Given the description of an element on the screen output the (x, y) to click on. 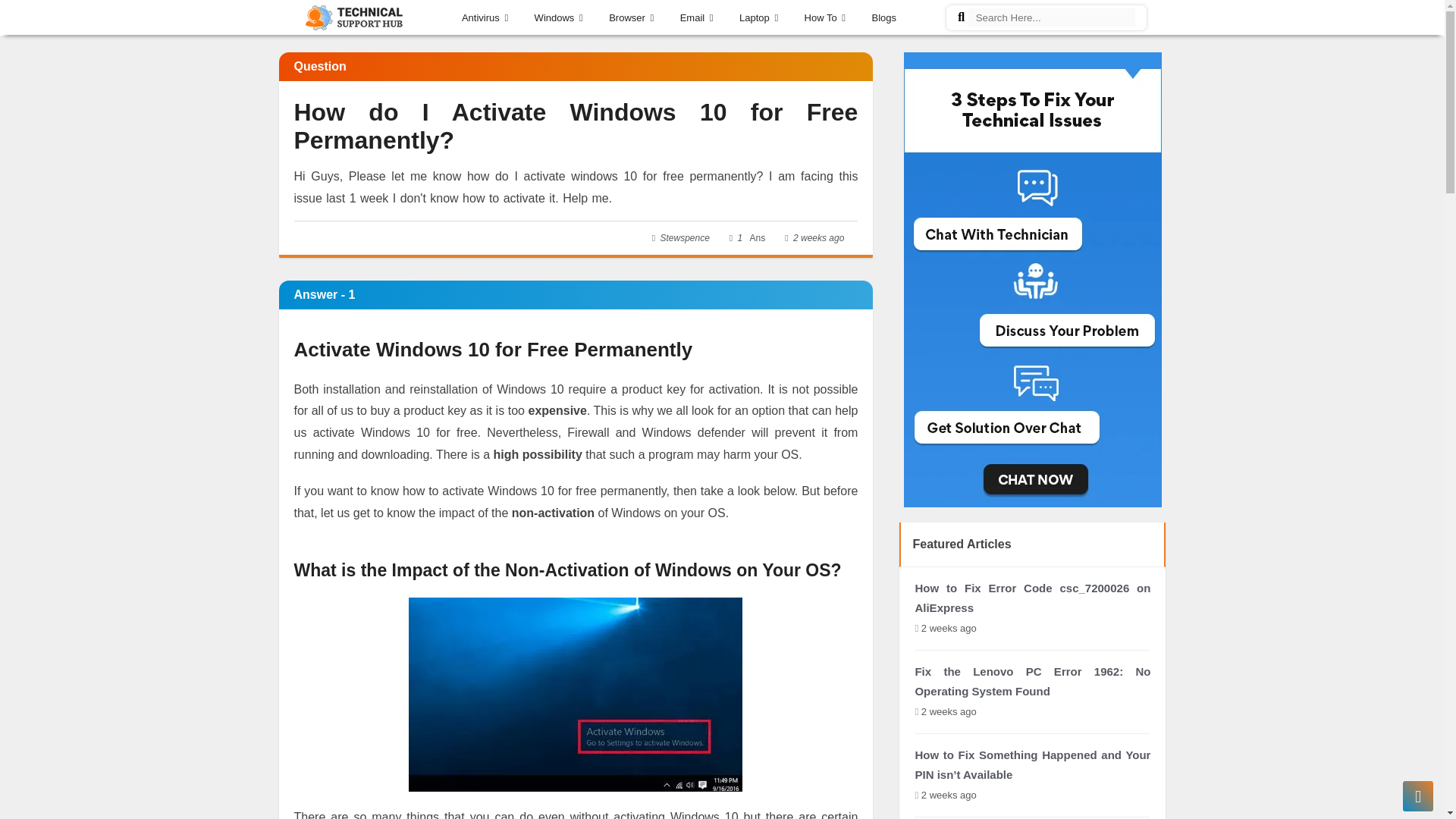
How To (824, 15)
Laptop (758, 15)
Laptop (758, 15)
Antivirus (485, 15)
Browser (631, 15)
Blogs (884, 15)
Email (697, 15)
Browser (631, 15)
How To (824, 15)
Windows (558, 15)
